Given the description of an element on the screen output the (x, y) to click on. 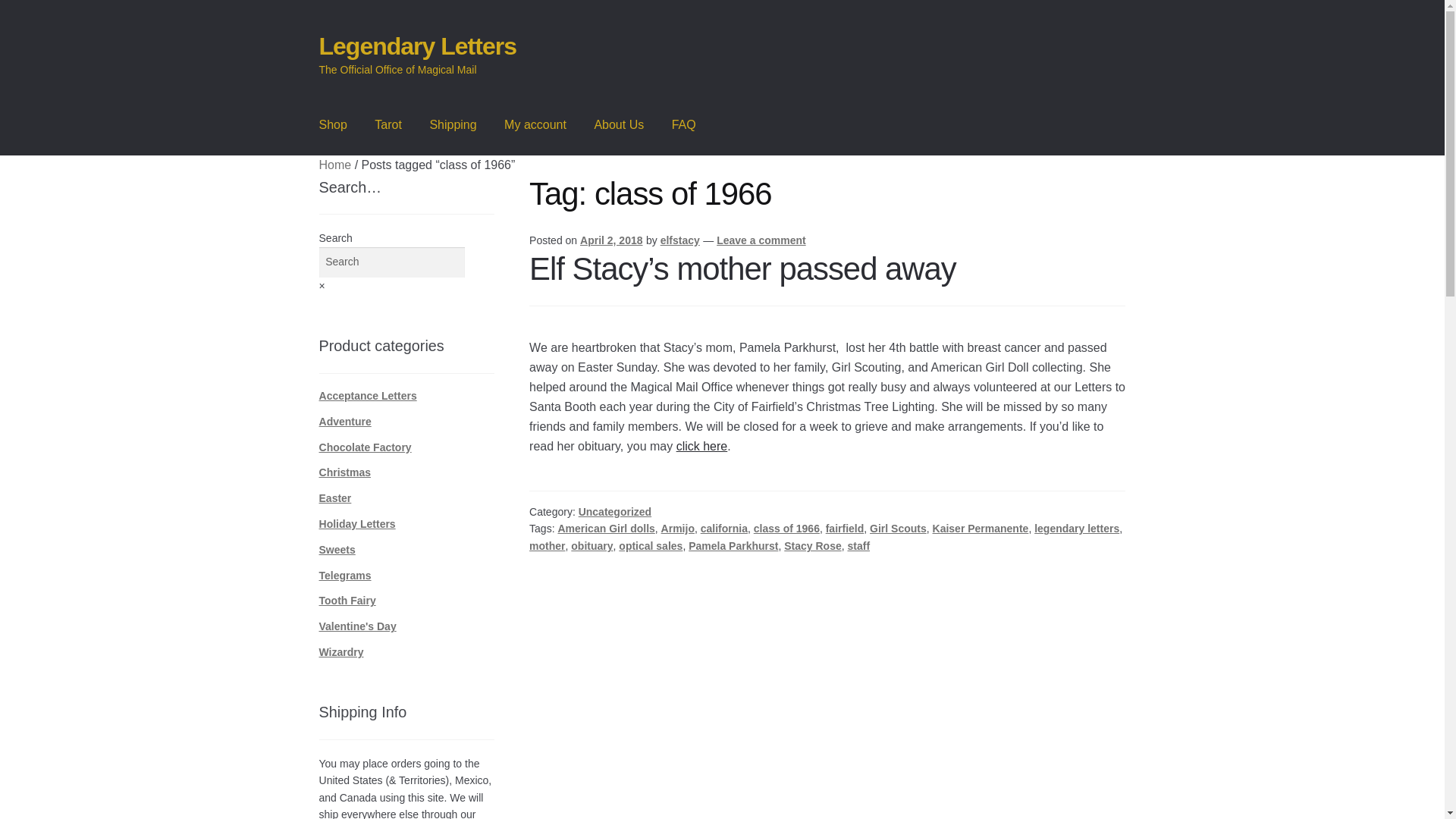
About Us (618, 124)
Shop (333, 124)
FAQ (683, 124)
Shipping (451, 124)
Tarot (387, 124)
Legendary Letters (417, 45)
My account (535, 124)
